Given the description of an element on the screen output the (x, y) to click on. 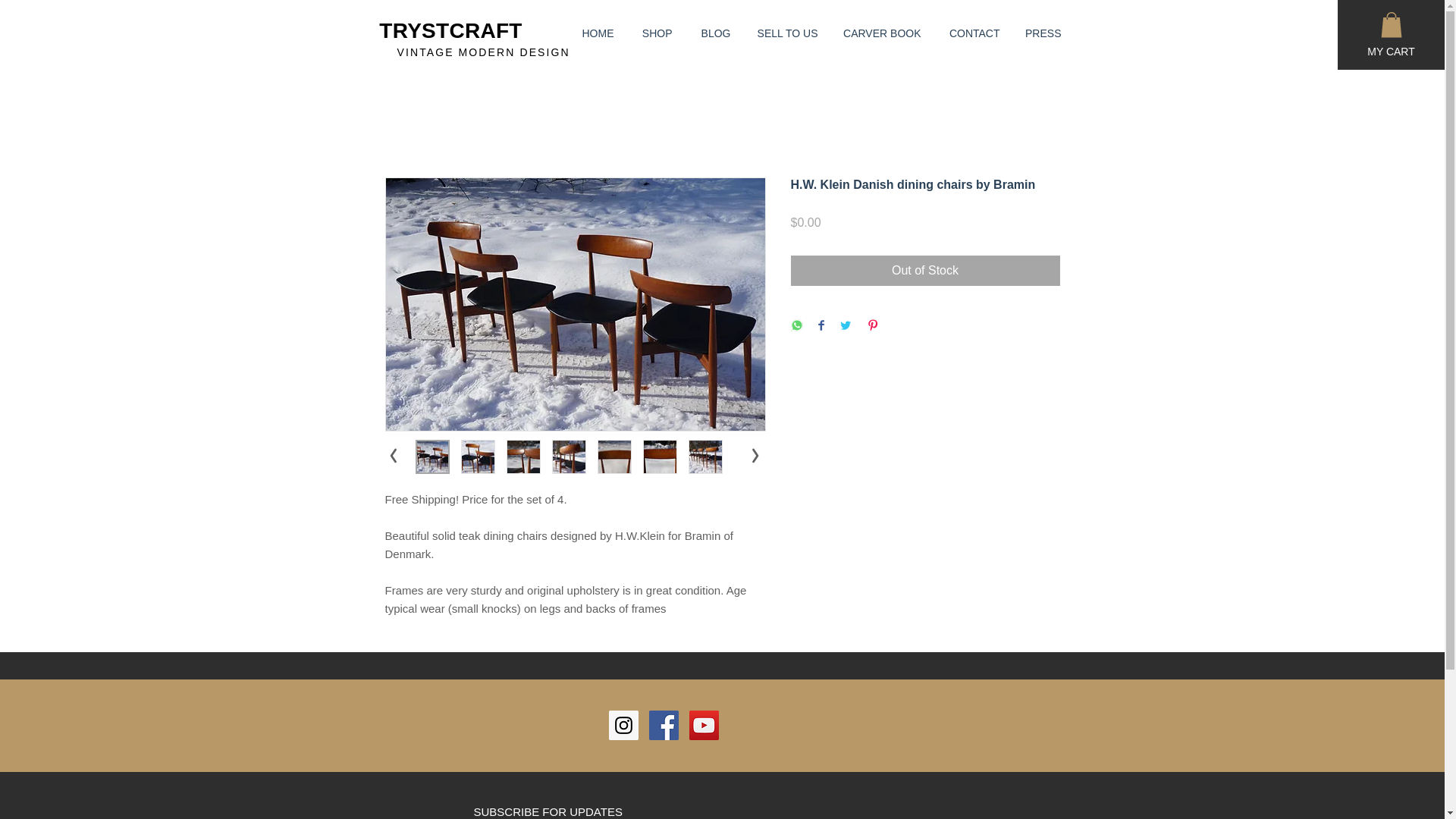
CARVER BOOK (881, 33)
Out of Stock (924, 270)
PRESS (1042, 33)
SELL TO US (784, 33)
BLOG (713, 33)
TRYSTCRAFT (449, 30)
HOME (593, 33)
SHOP (653, 33)
CONTACT (972, 33)
